Given the description of an element on the screen output the (x, y) to click on. 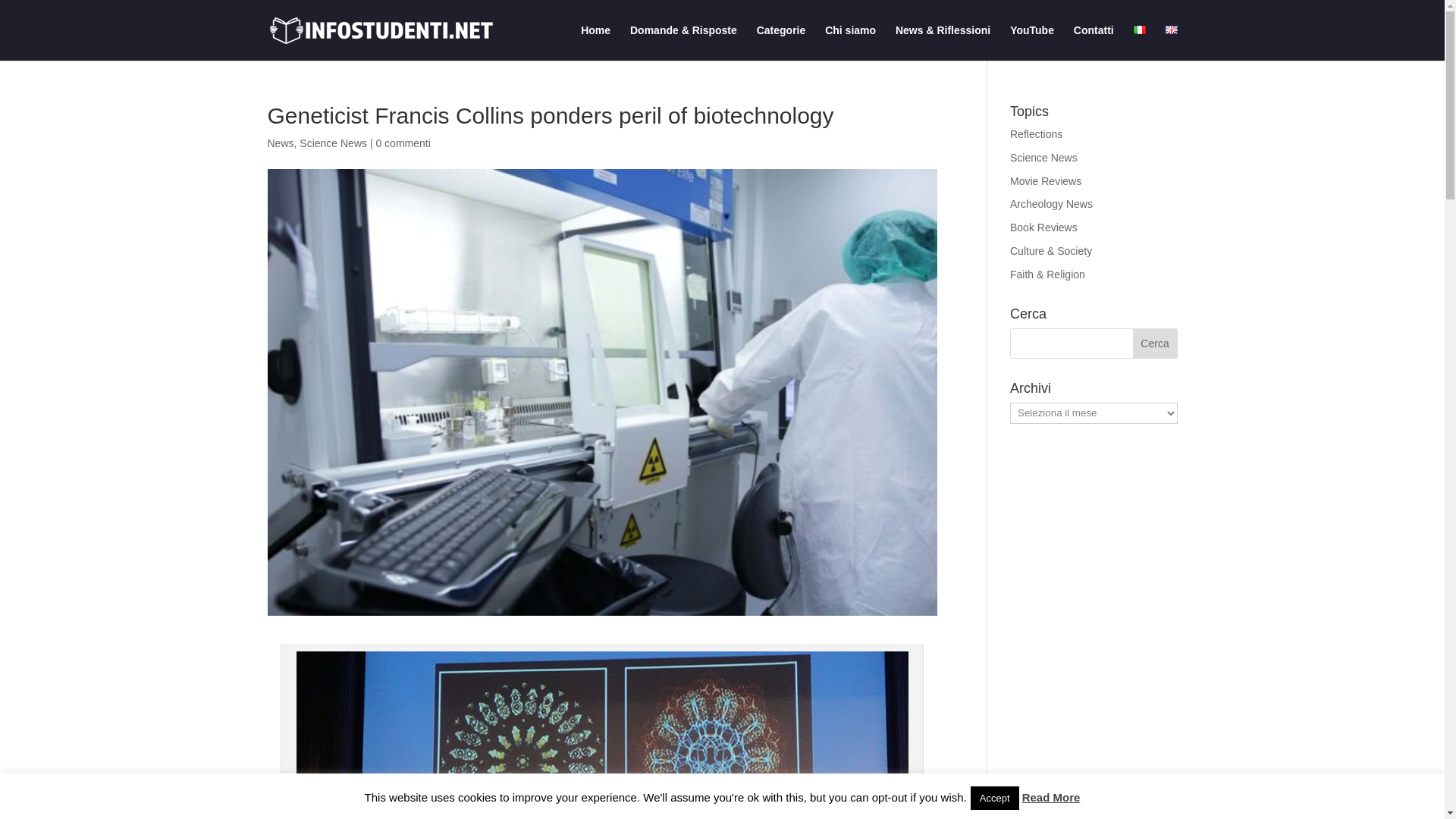
Book Reviews (1043, 227)
Movie Reviews (1045, 181)
Archeology News (1051, 203)
Chi siamo (850, 42)
Science News (1043, 157)
0 commenti (402, 143)
Reflections (1036, 133)
YouTube (1032, 42)
News (280, 143)
Categorie (781, 42)
